Given the description of an element on the screen output the (x, y) to click on. 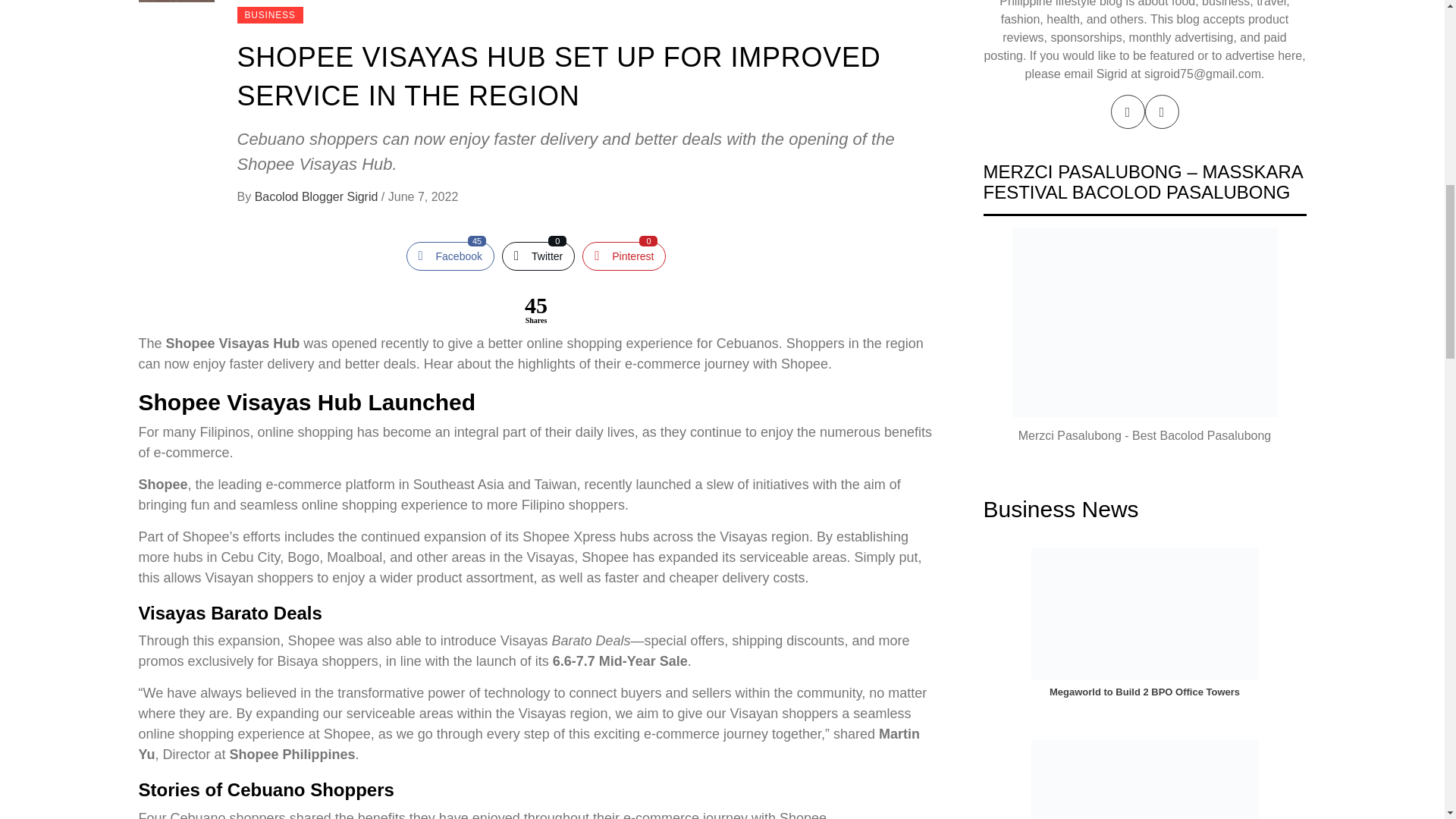
Bacolod Blogger Sigrid (317, 196)
BUSINESS (450, 256)
